Given the description of an element on the screen output the (x, y) to click on. 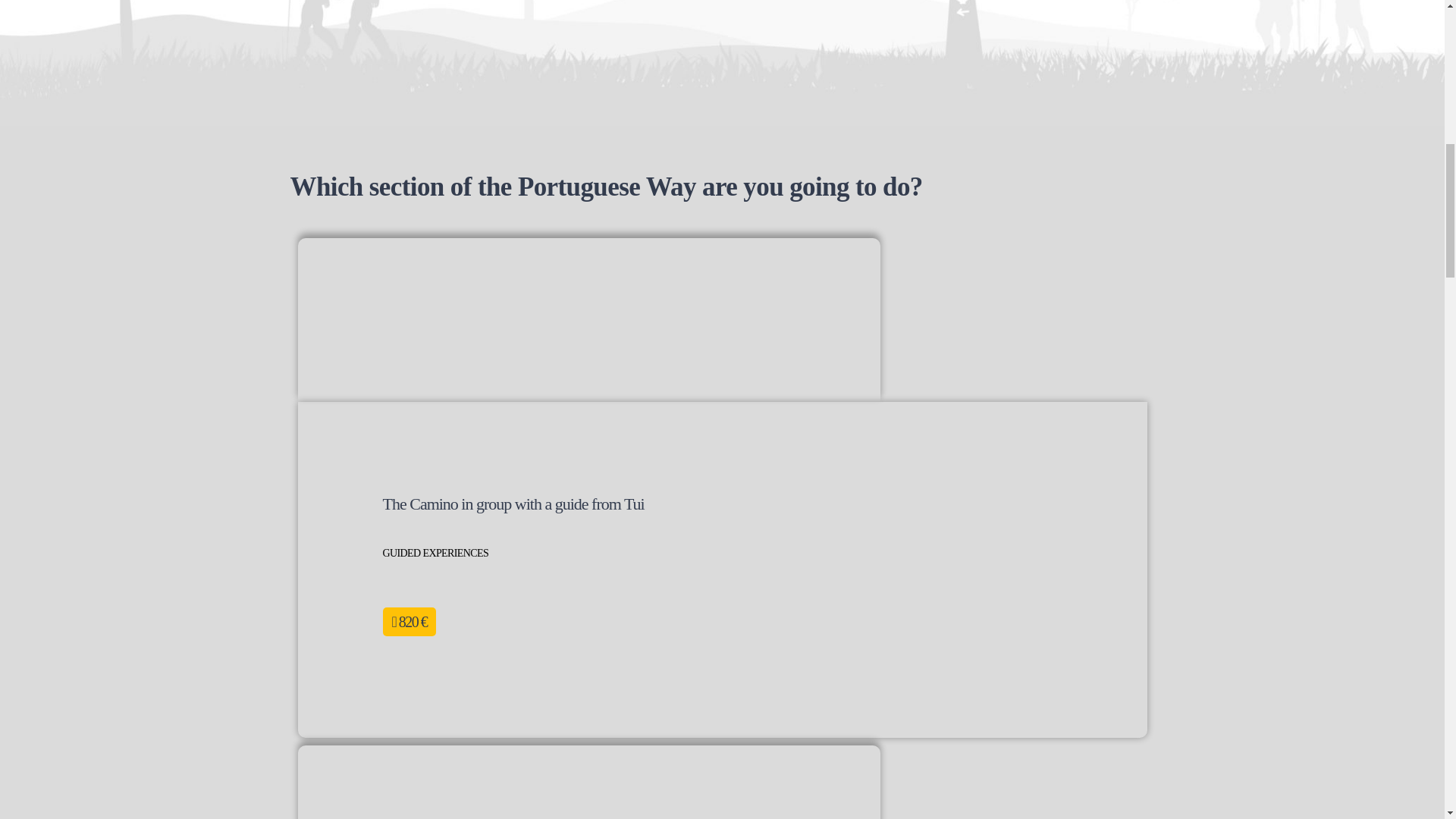
Portuguese Way (588, 320)
The Camino in group with a guide from Tui (512, 503)
Portuguese Way (588, 782)
